Given the description of an element on the screen output the (x, y) to click on. 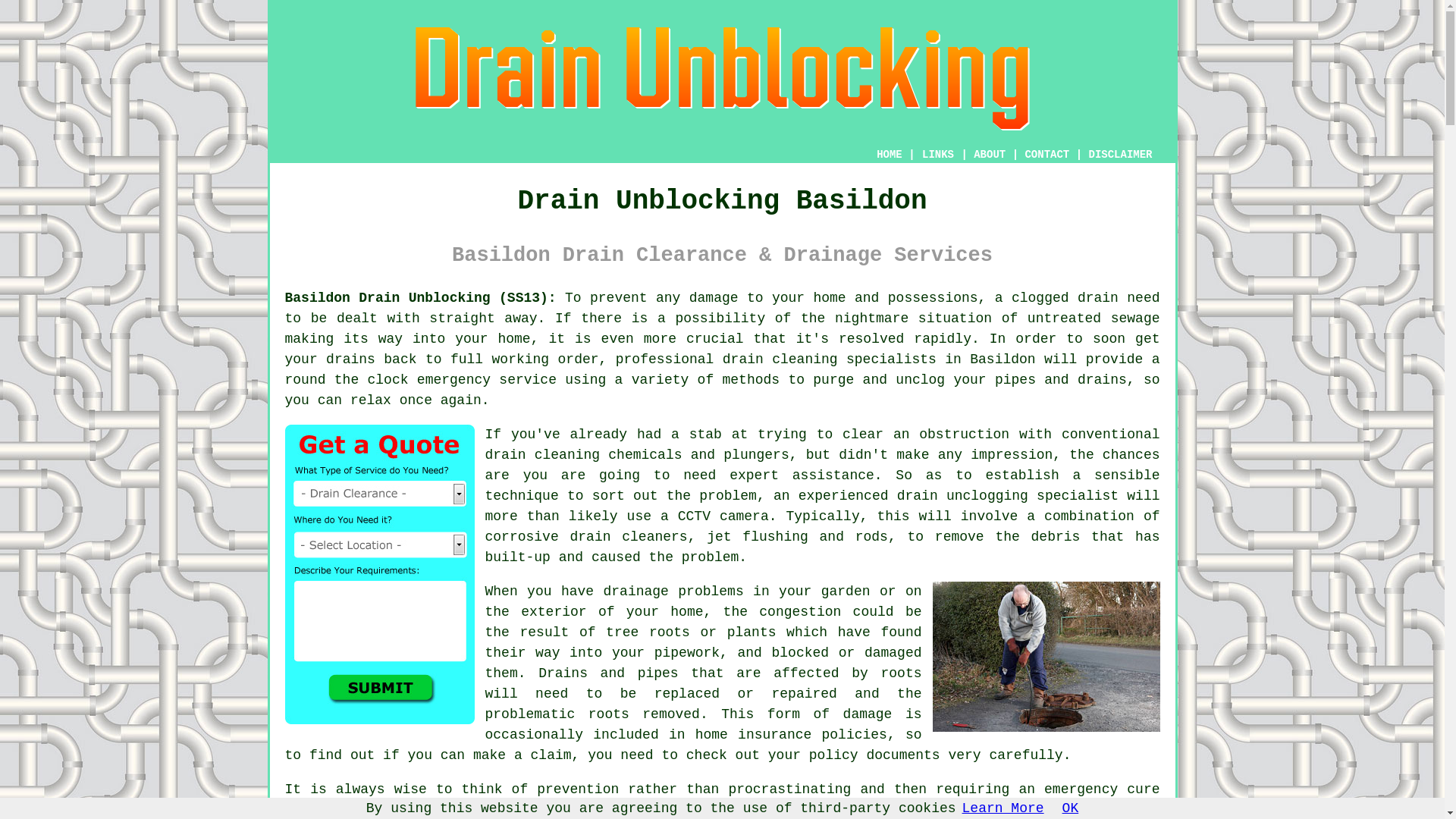
Drain Unblocking Basildon Essex (721, 78)
Drain Unblocking Basildon, Essex (1046, 656)
HOME (889, 154)
Free Basildon Drain Clearance Quotes (379, 574)
LINKS (938, 154)
